Given the description of an element on the screen output the (x, y) to click on. 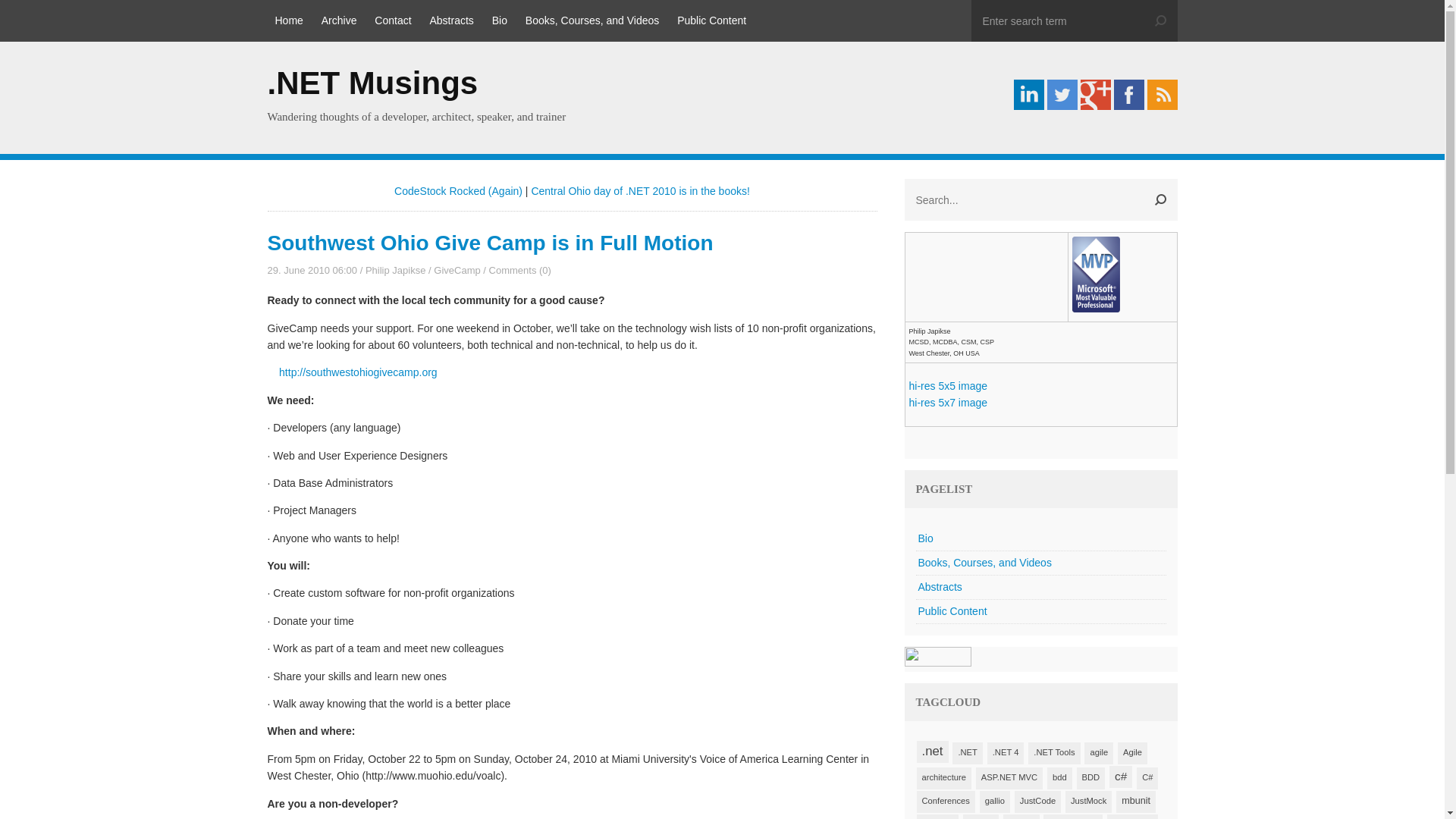
Abstracts (1040, 586)
Public Content (711, 20)
Bio (1040, 538)
Central Ohio day of .NET 2010 is in the books! (640, 191)
.NET (966, 753)
Southwest Ohio Give Camp is in Full Motion (489, 242)
.net (931, 751)
hi-res 5x7 image (947, 402)
hi-res 5x5 image (947, 386)
Books, Courses, and Videos (1040, 562)
